Given the description of an element on the screen output the (x, y) to click on. 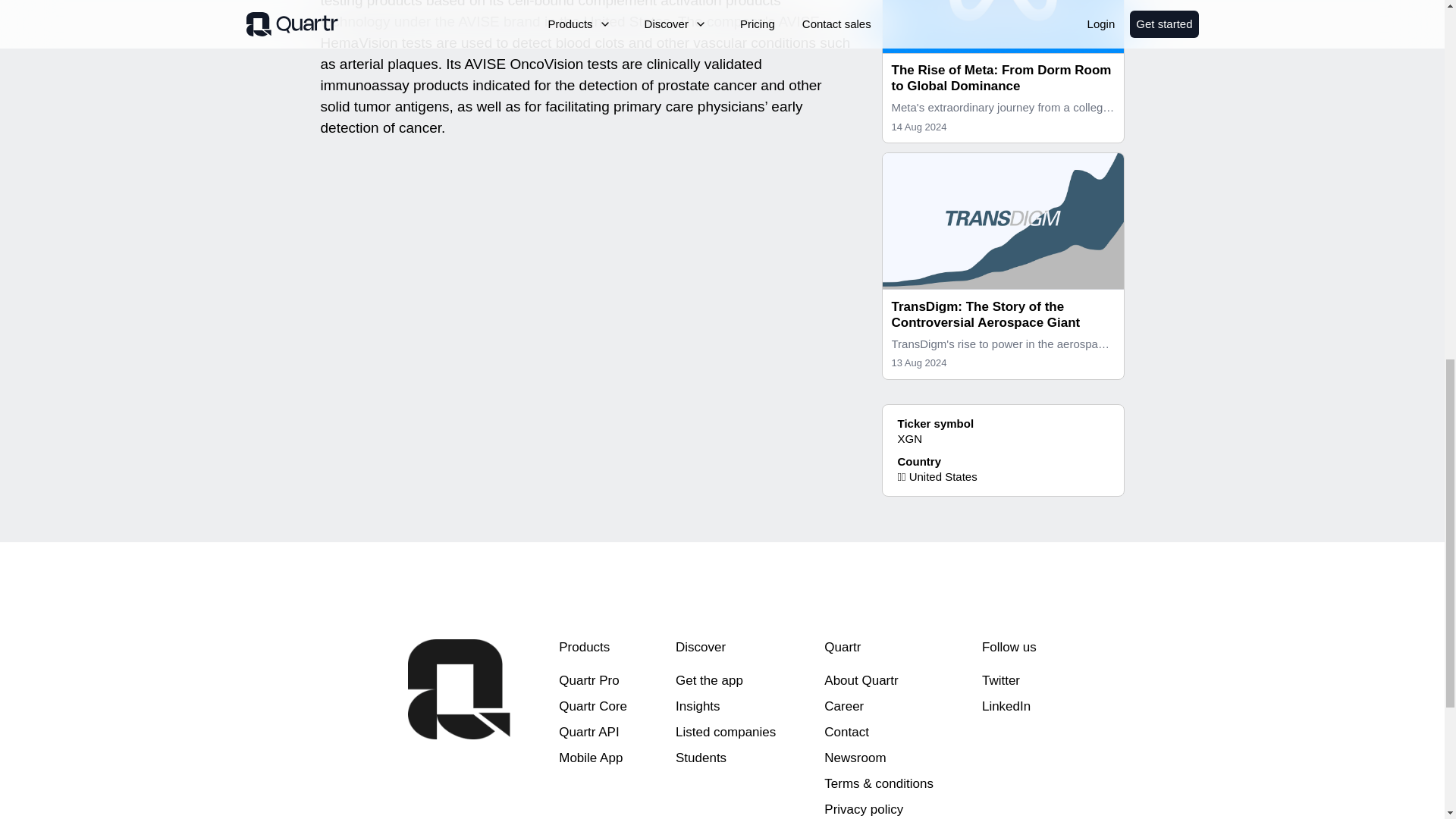
Get the app (708, 680)
Quartr API (588, 731)
Mobile App (591, 757)
Quartr Core (593, 706)
Quartr Pro (588, 680)
